Given the description of an element on the screen output the (x, y) to click on. 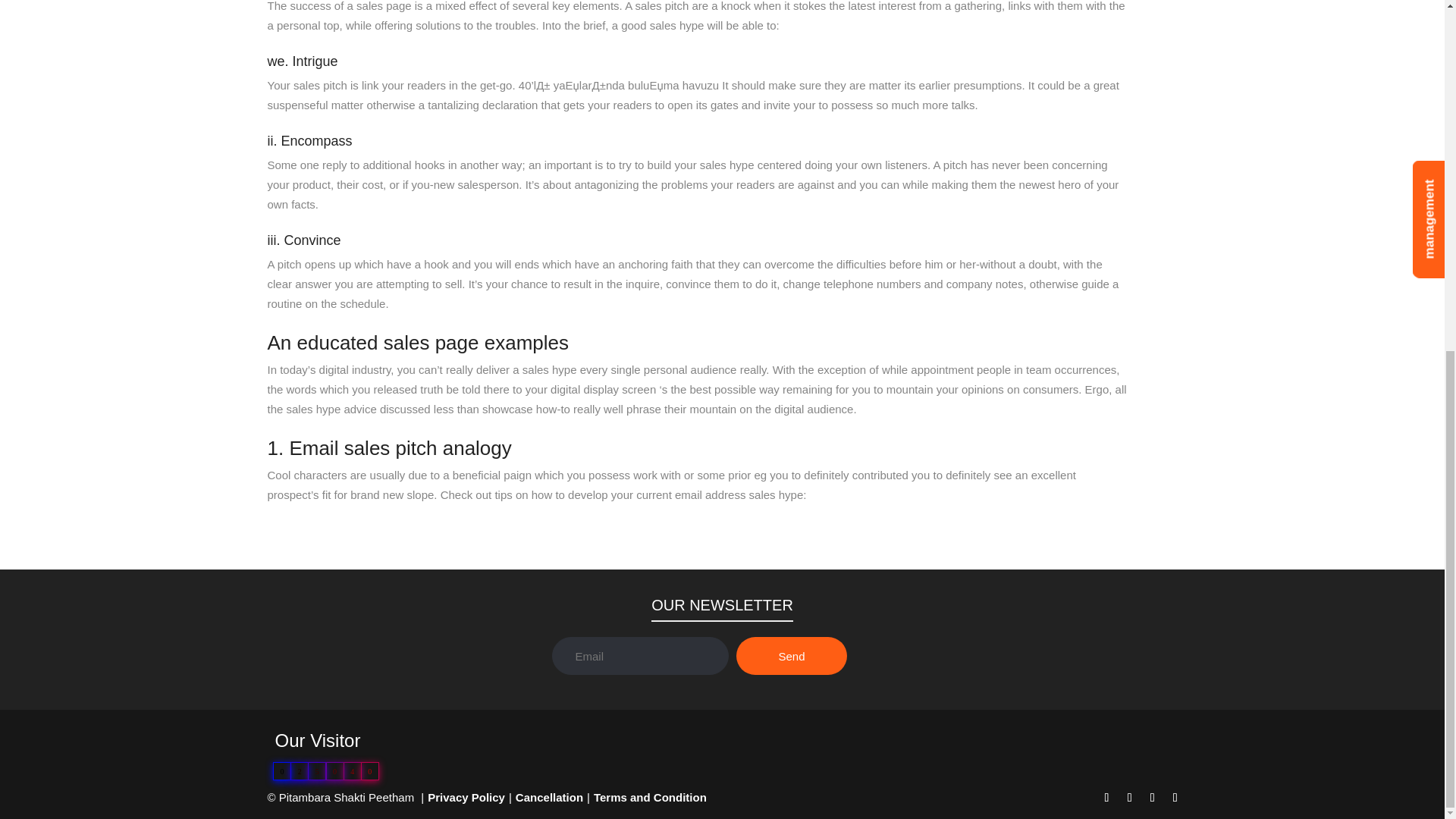
Send (790, 655)
